Given the description of an element on the screen output the (x, y) to click on. 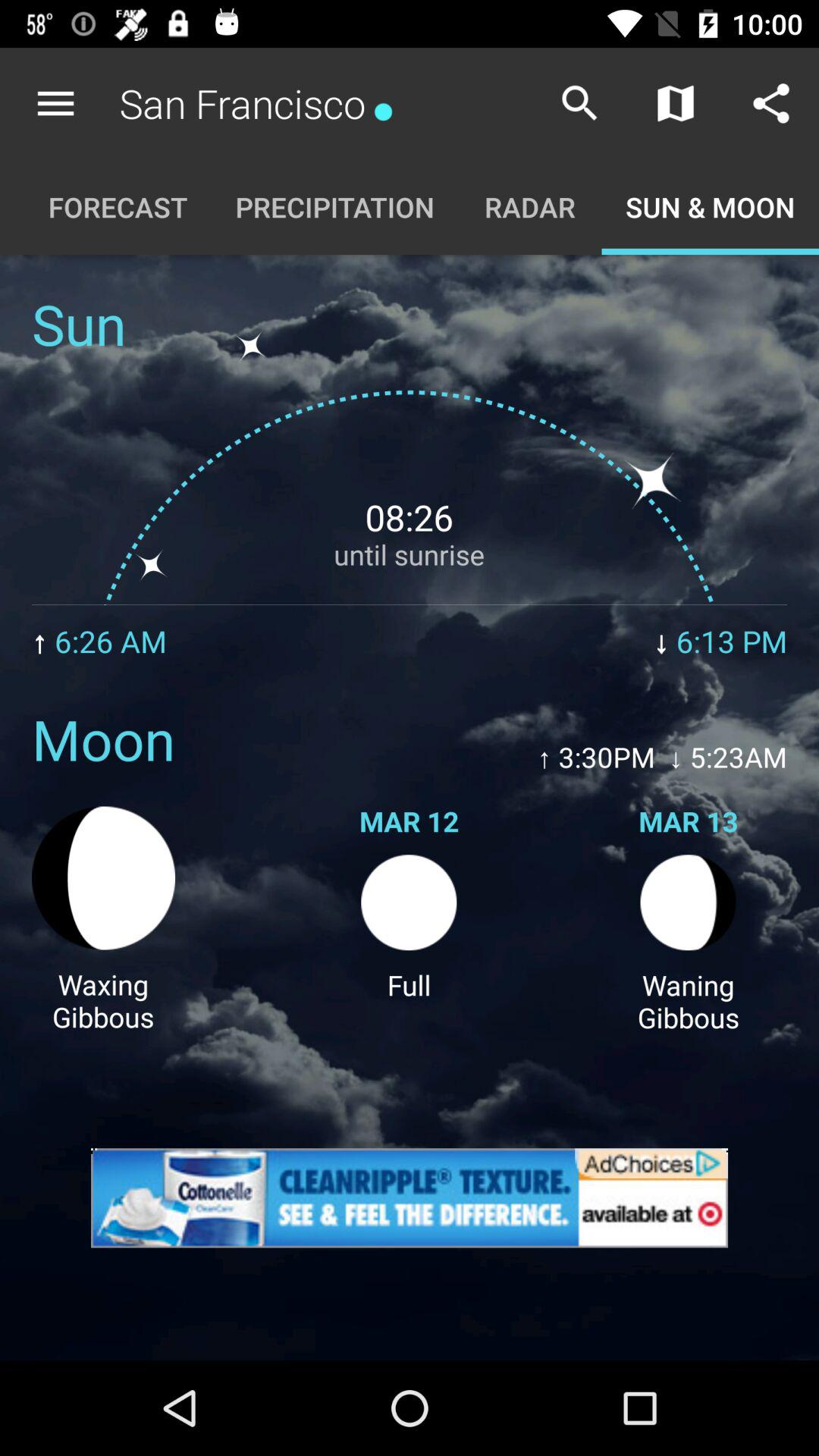
open the icon to the right of the san francisco* app (579, 103)
